Given the description of an element on the screen output the (x, y) to click on. 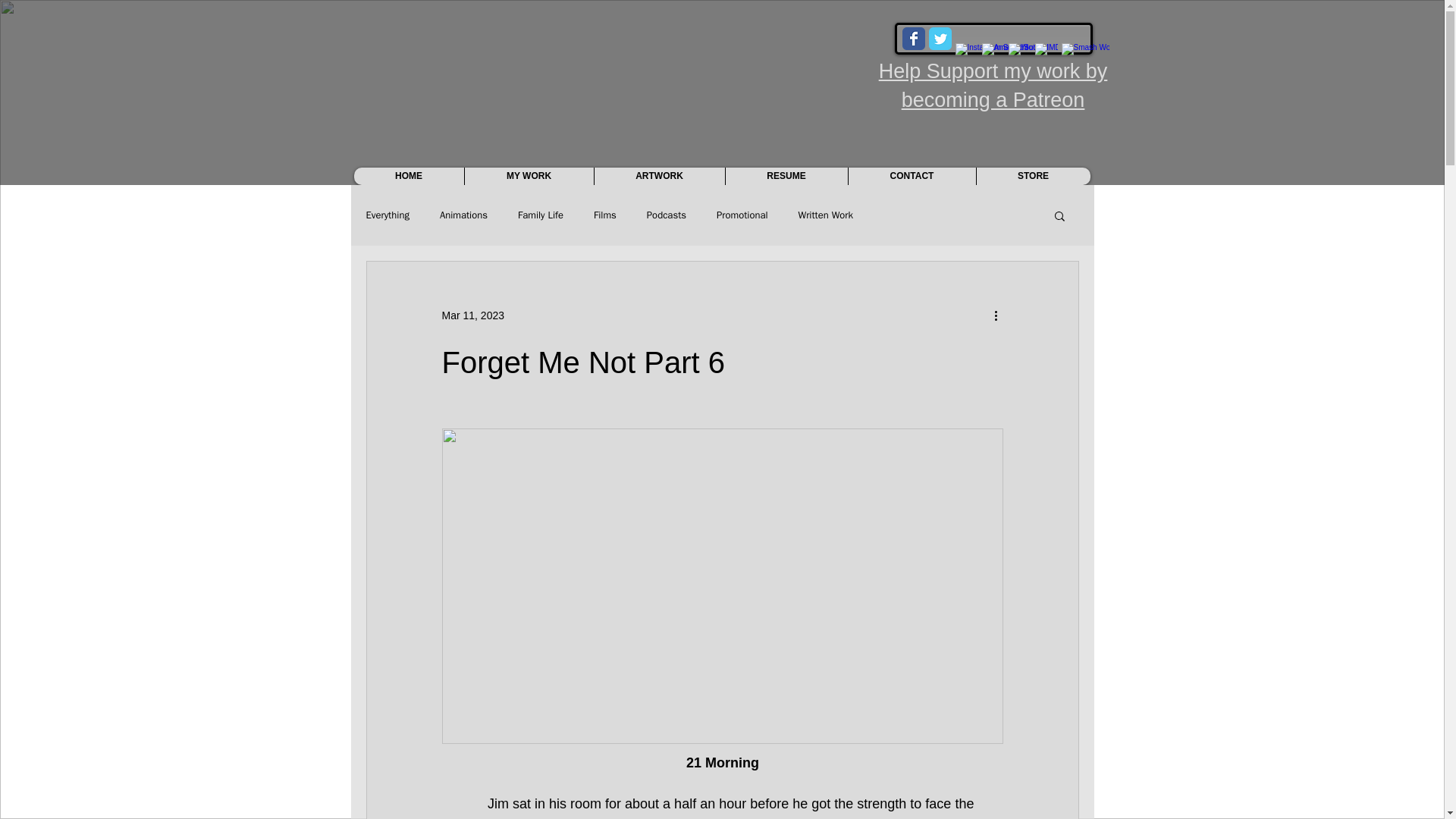
Family Life (540, 214)
Animations (463, 214)
Everything (387, 214)
Mar 11, 2023 (472, 315)
HOME (408, 176)
Help Support my work by becoming a Patreon (993, 85)
Written Work (825, 214)
STORE (1032, 176)
MY WORK (529, 176)
ARTWORK (657, 176)
